Given the description of an element on the screen output the (x, y) to click on. 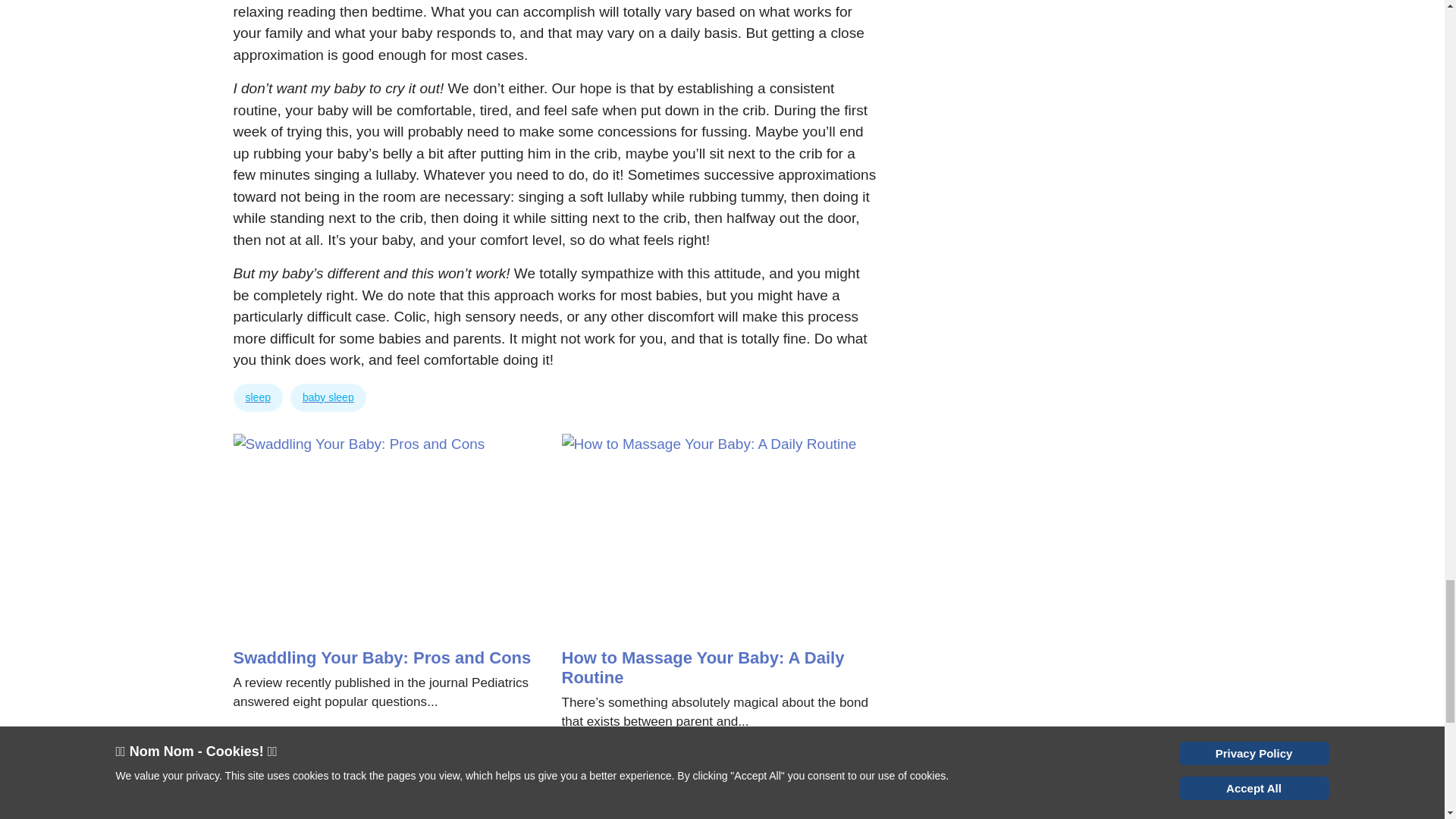
baby sleep (327, 397)
Swaddling Your Baby: Pros and Cons (381, 657)
sleep (257, 397)
How to Massage Your Baby: A Daily Routine (702, 667)
